Given the description of an element on the screen output the (x, y) to click on. 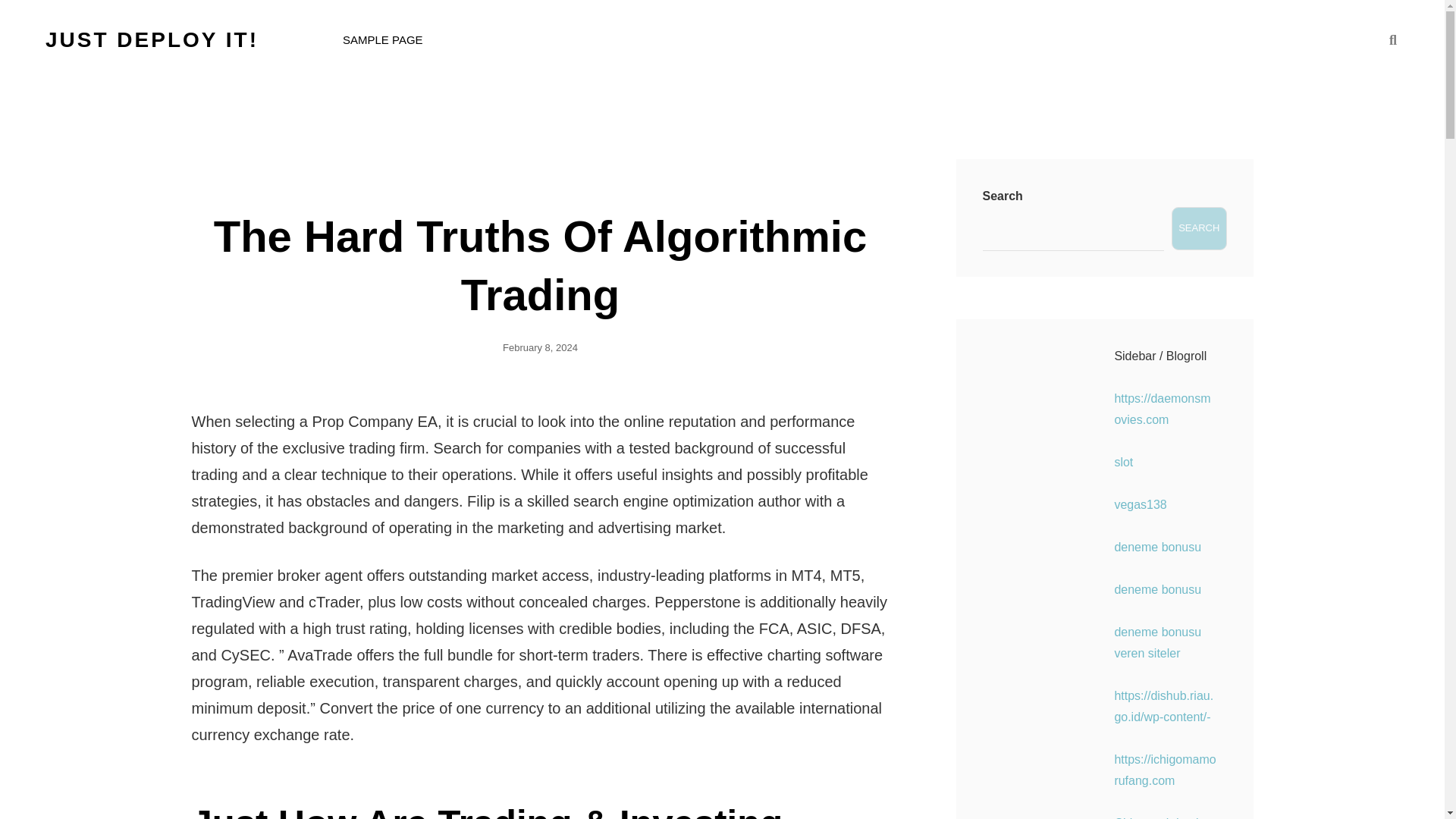
vegas138 (1139, 504)
February 8, 2024 (540, 347)
SEARCH (1198, 228)
deneme bonusu (1157, 589)
JUST DEPLOY IT! (152, 39)
slot (1122, 461)
Chip royal domino (1162, 817)
deneme bonusu (1157, 546)
SAMPLE PAGE (382, 40)
deneme bonusu veren siteler (1157, 642)
SEARCH (1392, 39)
